Given the description of an element on the screen output the (x, y) to click on. 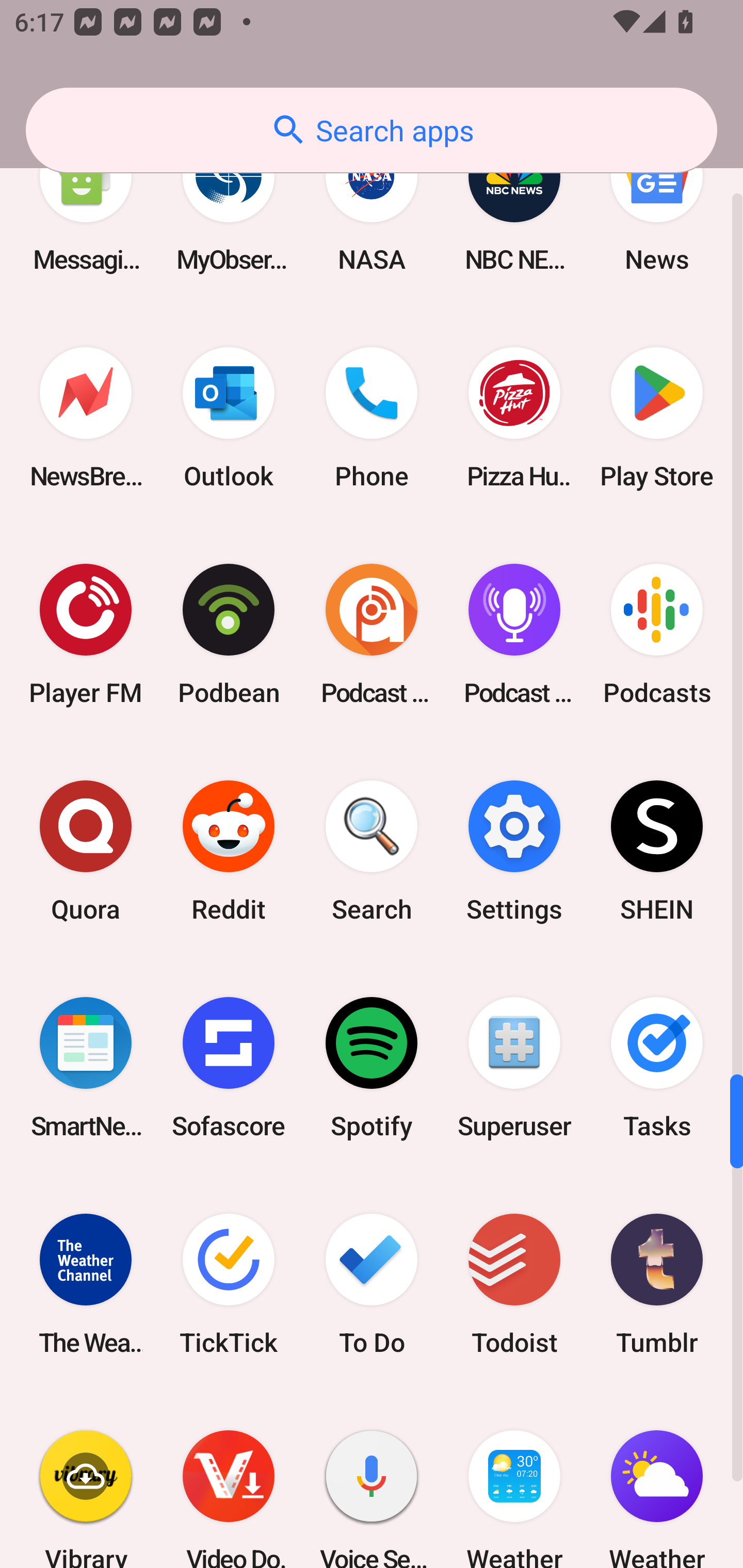
  Search apps (371, 130)
Messaging (85, 205)
MyObservatory (228, 205)
NASA (371, 205)
NBC NEWS (514, 205)
News (656, 205)
NewsBreak (85, 417)
Outlook (228, 417)
Phone (371, 417)
Pizza Hut HK & Macau (514, 417)
Play Store (656, 417)
Player FM (85, 634)
Podbean (228, 634)
Podcast Addict (371, 634)
Podcast Player (514, 634)
Podcasts (656, 634)
Quora (85, 851)
Reddit (228, 851)
Search (371, 851)
Settings (514, 851)
SHEIN (656, 851)
SmartNews (85, 1067)
Sofascore (228, 1067)
Spotify (371, 1067)
Superuser (514, 1067)
Tasks (656, 1067)
The Weather Channel (85, 1284)
TickTick (228, 1284)
To Do (371, 1284)
Todoist (514, 1284)
Tumblr (656, 1284)
Vibrary (85, 1480)
Video Downloader & Ace Player (228, 1480)
Voice Search (371, 1480)
Weather (514, 1480)
Weather (656, 1480)
